Given the description of an element on the screen output the (x, y) to click on. 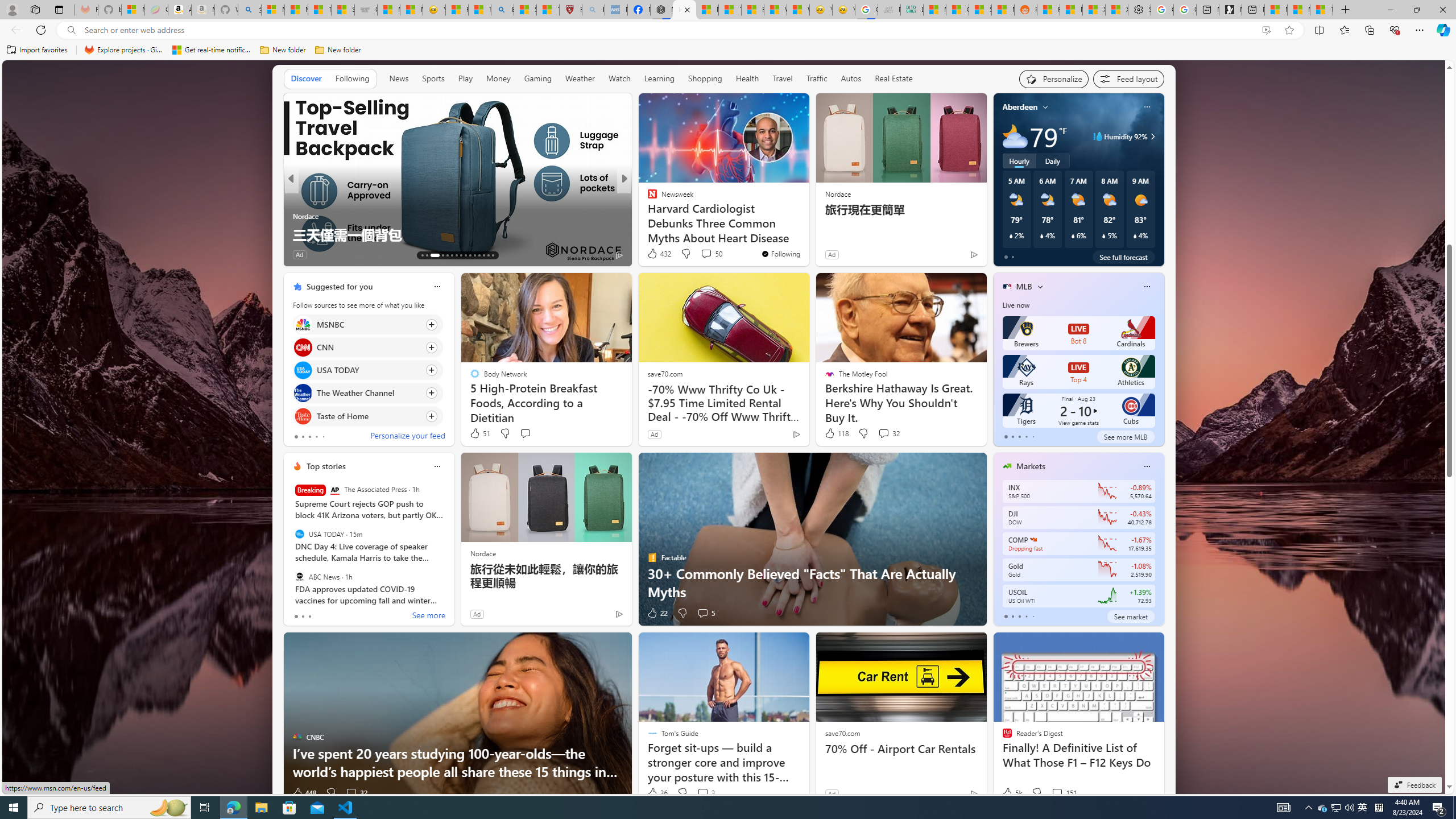
Personalize your feed" (1054, 78)
View comments 12 Comment (357, 254)
See full forecast (1123, 256)
View comments 5 Comment (705, 612)
Top stories (325, 466)
Click to follow source The Weather Channel (367, 392)
View comments 3 Comment (705, 792)
Bing (502, 9)
More interests (1039, 286)
